Given the description of an element on the screen output the (x, y) to click on. 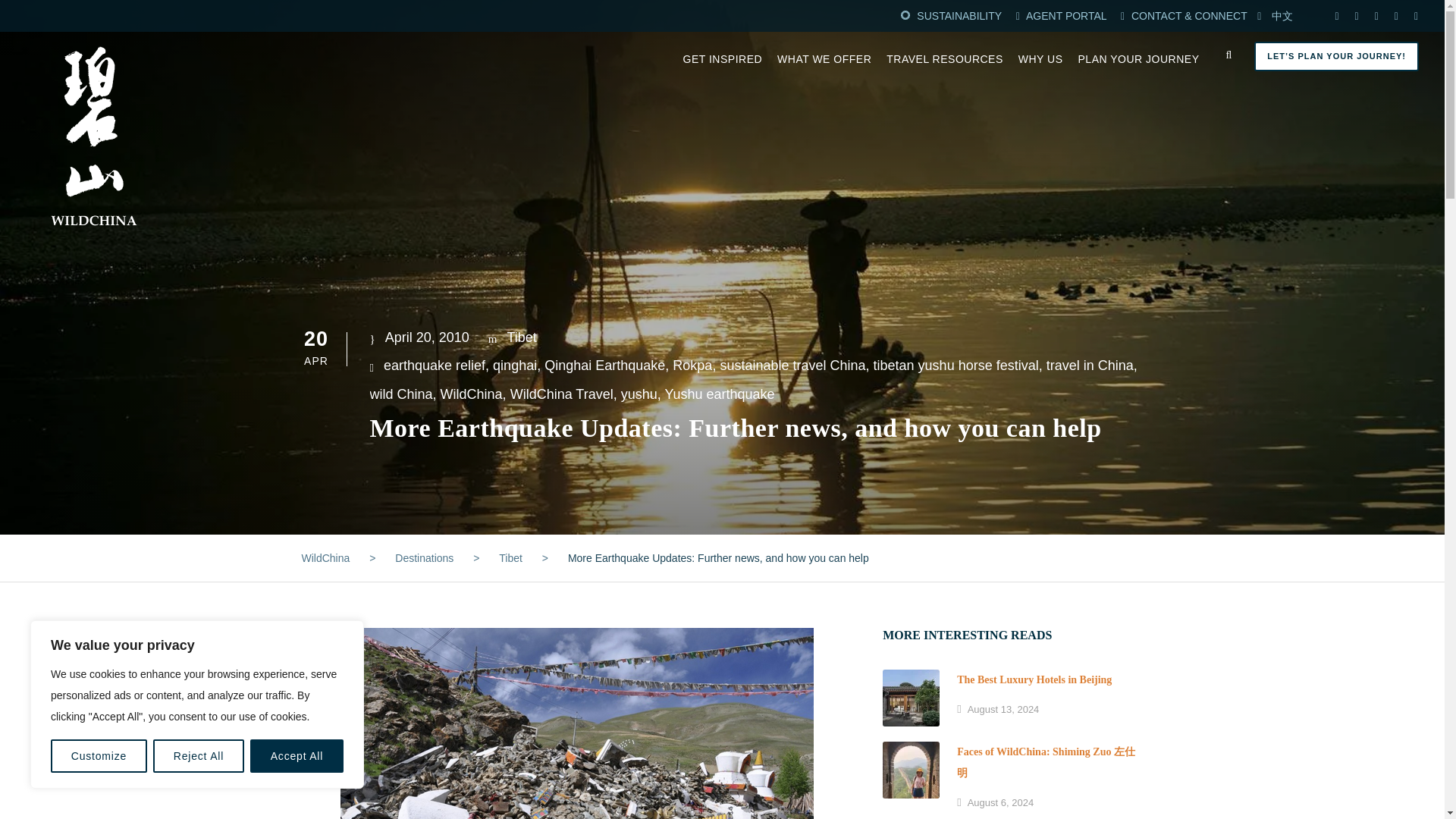
Customize (98, 756)
Reject All (198, 756)
AGENT PORTAL (1067, 15)
GET INSPIRED (722, 68)
Go to WildChina. (325, 558)
SUSTAINABILITY (959, 15)
7cb7ecda-485f-46e8-9c09-70968af7fd9b (910, 770)
More Earthquake Updates: Further news, and how you can help (576, 723)
Go to the Destinations Category archives. (423, 558)
Accept All (296, 756)
